Given the description of an element on the screen output the (x, y) to click on. 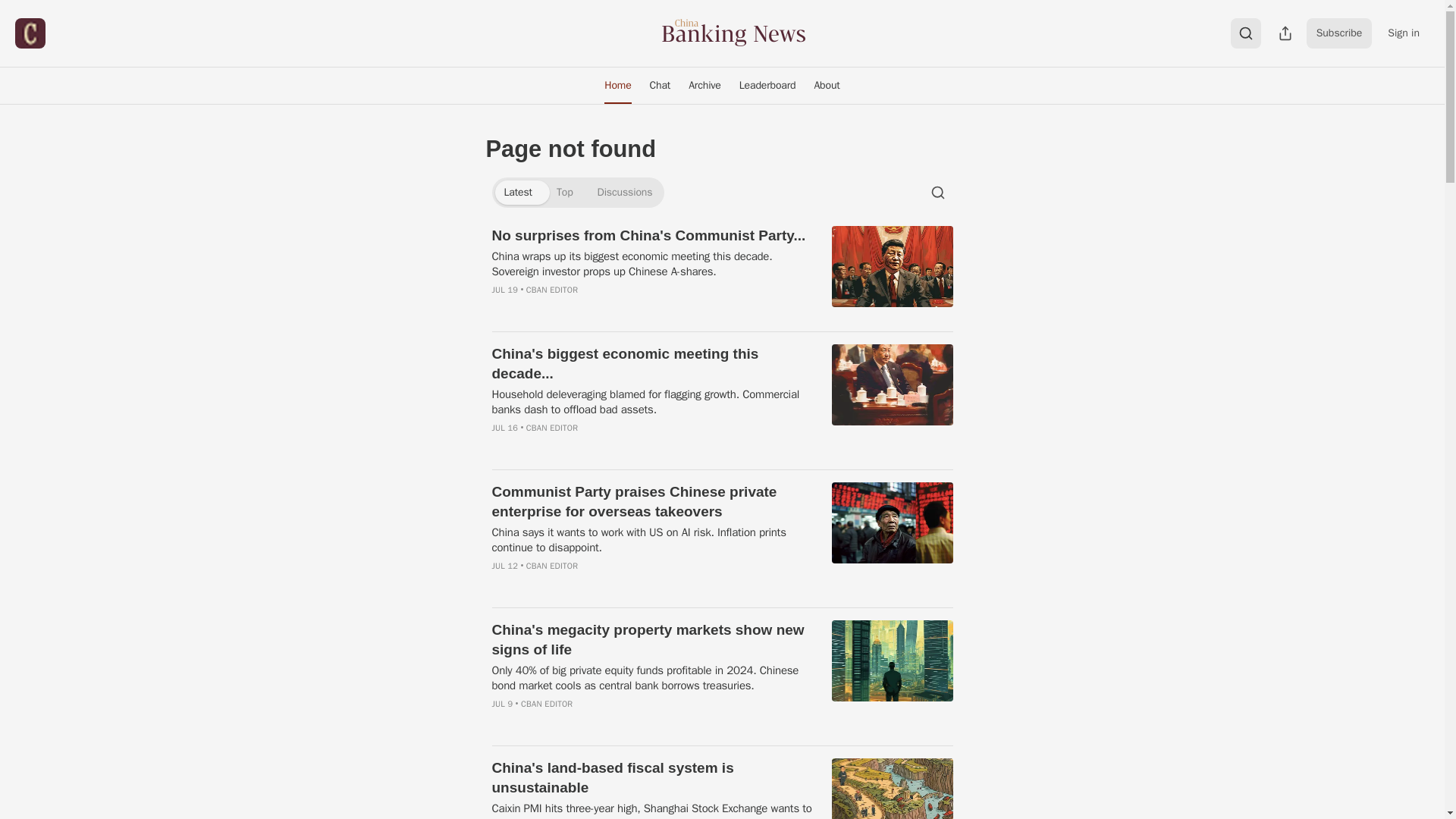
Chat (659, 85)
China's biggest economic meeting this decade... (652, 363)
Leaderboard (767, 85)
Archive (704, 85)
CBAN EDITOR (551, 289)
Discussions (625, 192)
Home (617, 85)
Latest (517, 192)
Sign in (1403, 33)
No surprises from China's Communist Party... (652, 235)
About (826, 85)
Top (564, 192)
